Given the description of an element on the screen output the (x, y) to click on. 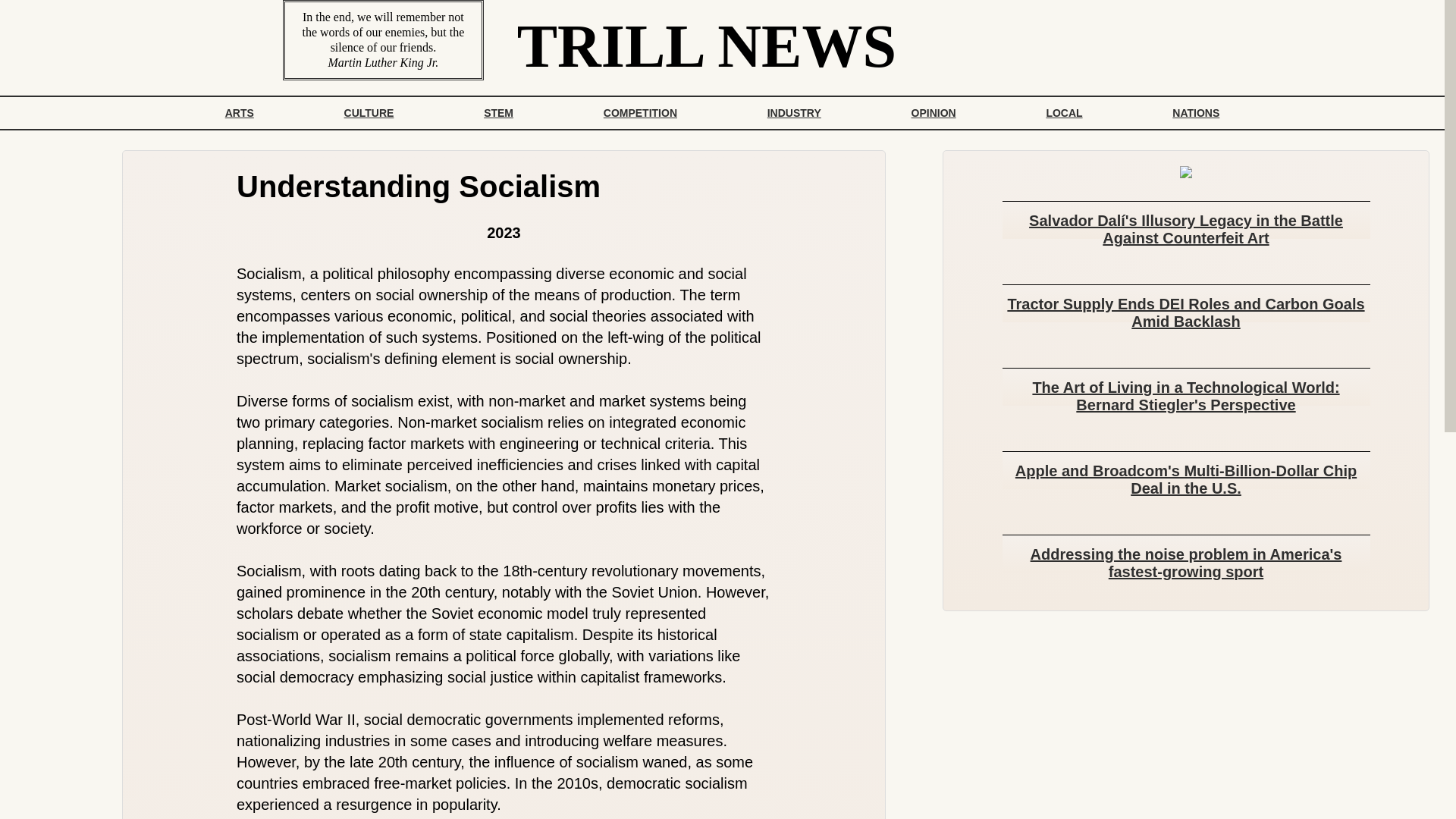
Tractor Supply Ends DEI Roles and Carbon Goals Amid Backlash (1186, 307)
STEM (498, 112)
LOCAL (1064, 112)
ARTS (239, 112)
NATIONS (1195, 112)
CULTURE (367, 112)
OPINION (932, 112)
INDUSTRY (793, 112)
COMPETITION (640, 112)
TRILL NEWS (706, 62)
